Given the description of an element on the screen output the (x, y) to click on. 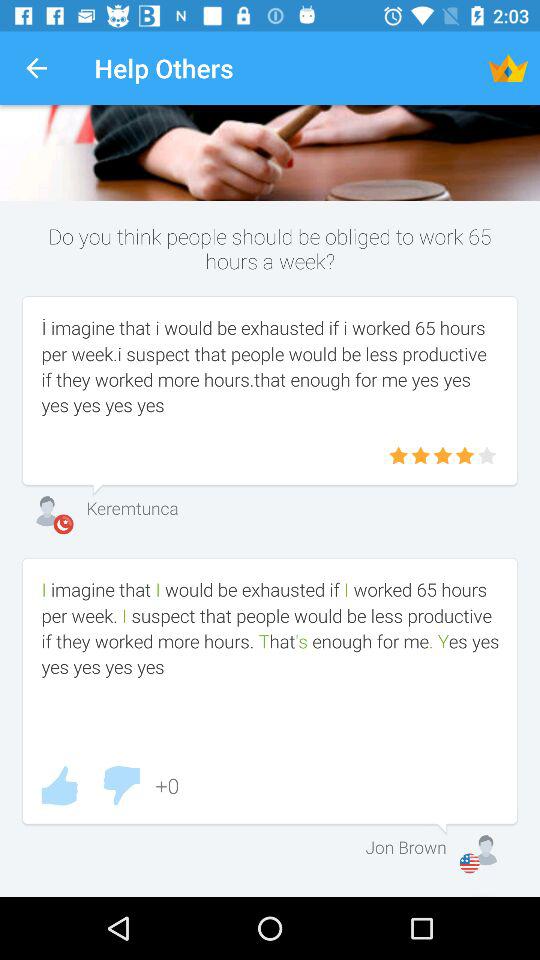
thumbs down (121, 785)
